Given the description of an element on the screen output the (x, y) to click on. 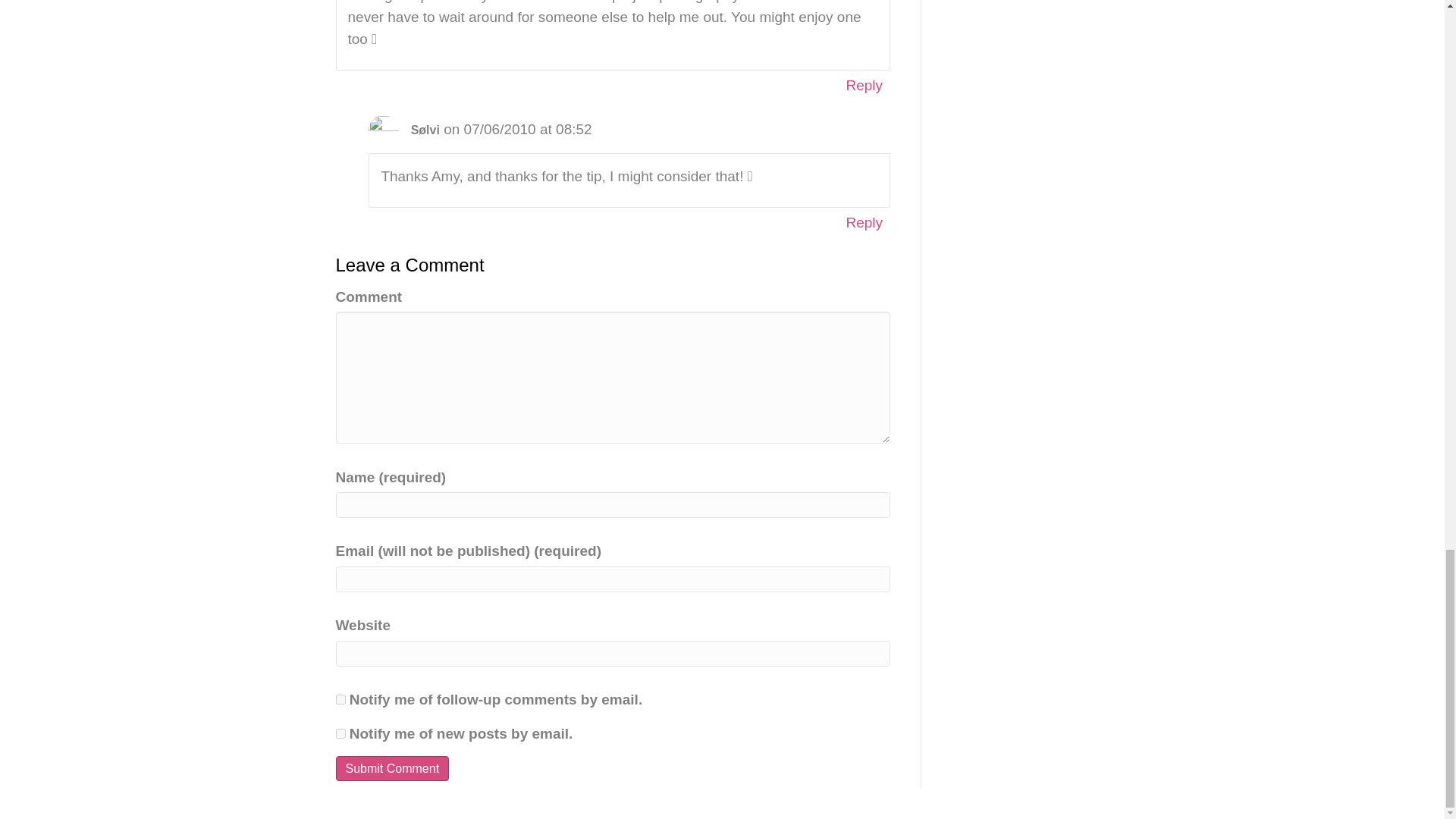
Submit Comment (391, 768)
Reply (863, 85)
Reply (863, 222)
Submit Comment (391, 768)
subscribe (339, 733)
subscribe (339, 699)
